Given the description of an element on the screen output the (x, y) to click on. 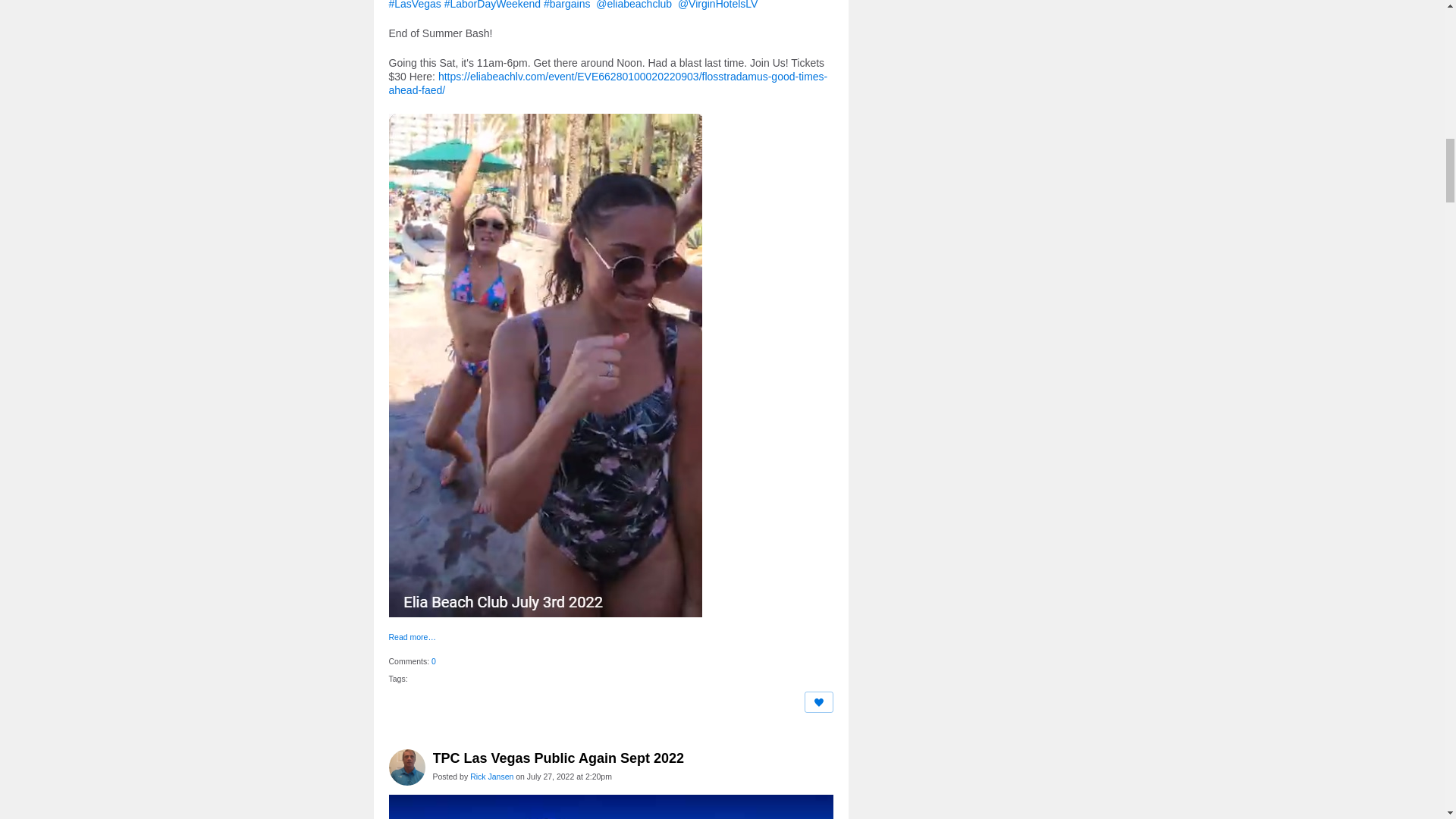
Like (818, 701)
